Given the description of an element on the screen output the (x, y) to click on. 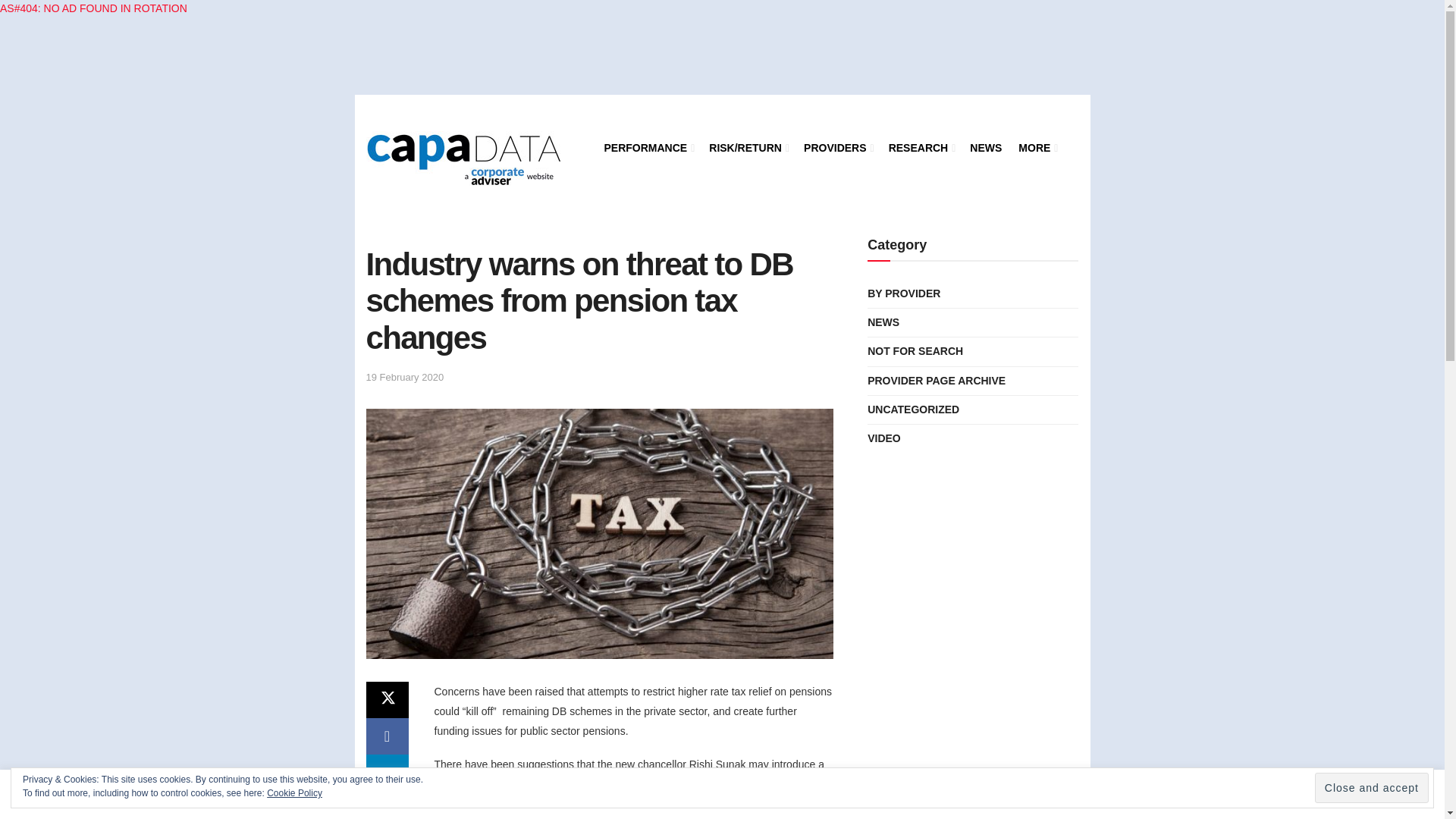
Close and accept (1371, 788)
PERFORMANCE (648, 147)
PROVIDERS (837, 147)
RESEARCH (920, 147)
